Given the description of an element on the screen output the (x, y) to click on. 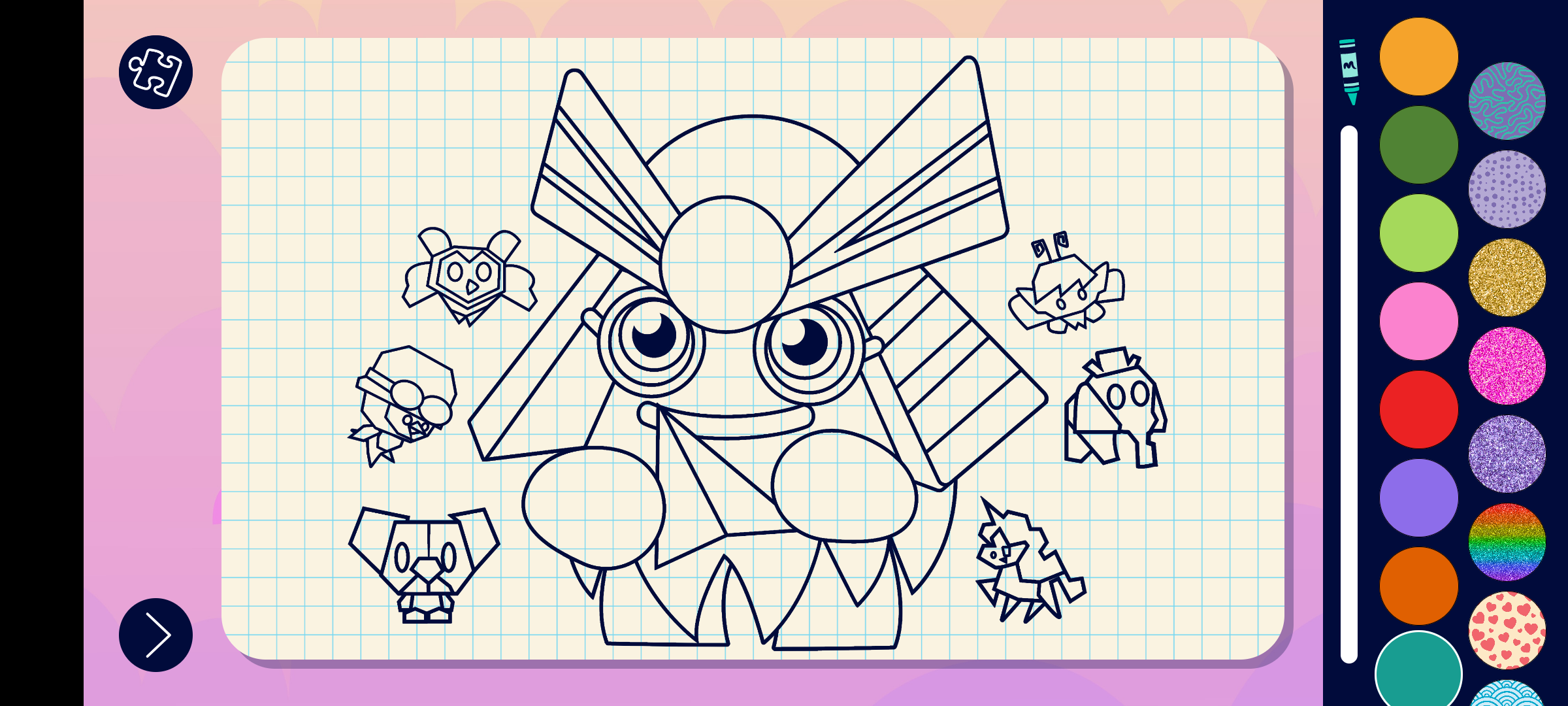
coloring background (1507, 101)
coloring background (1507, 189)
coloring background (1507, 277)
coloring background (1507, 365)
coloring background (1507, 454)
coloring background (1507, 542)
coloring background (1507, 630)
